Given the description of an element on the screen output the (x, y) to click on. 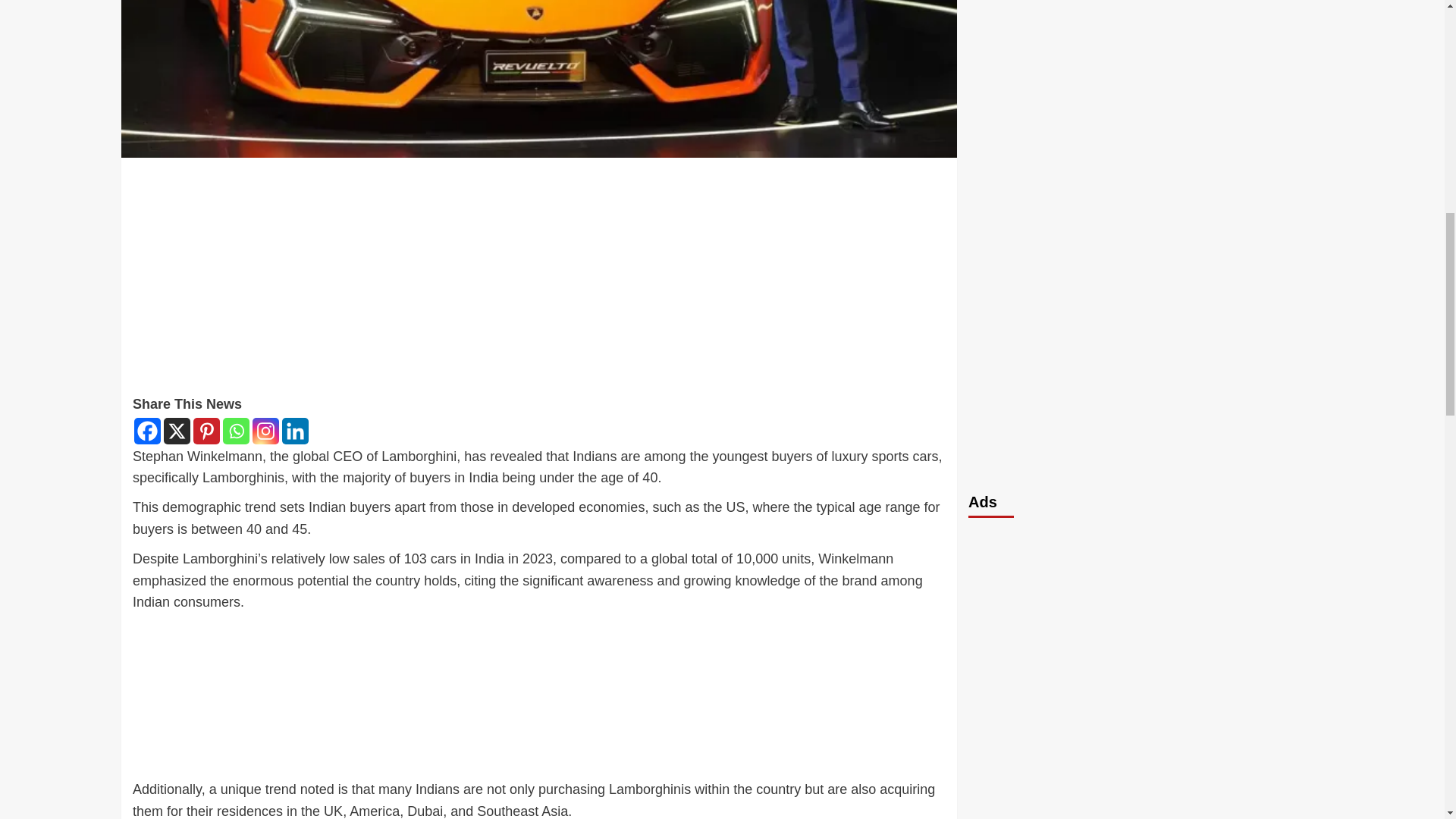
Linkedin (295, 430)
Instagram (265, 430)
Whatsapp (235, 430)
X (176, 430)
Facebook (146, 430)
Pinterest (206, 430)
